Given the description of an element on the screen output the (x, y) to click on. 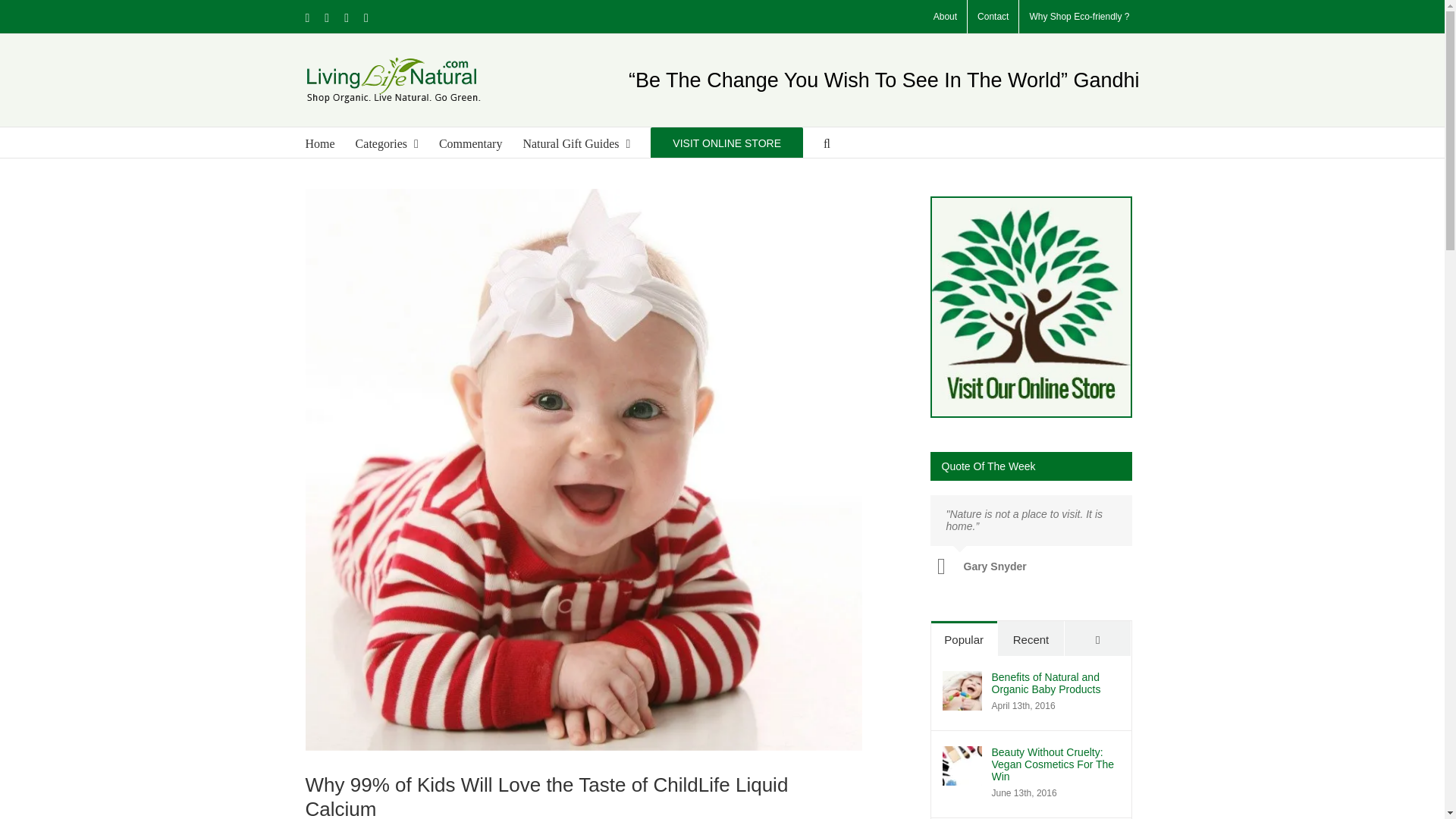
About (944, 16)
Why Shop Eco-friendly ? (1078, 16)
Categories (387, 142)
Home (319, 142)
VISIT ONLINE STORE (726, 142)
Contact (992, 16)
Commentary (470, 142)
Natural Gift Guides (576, 142)
